Given the description of an element on the screen output the (x, y) to click on. 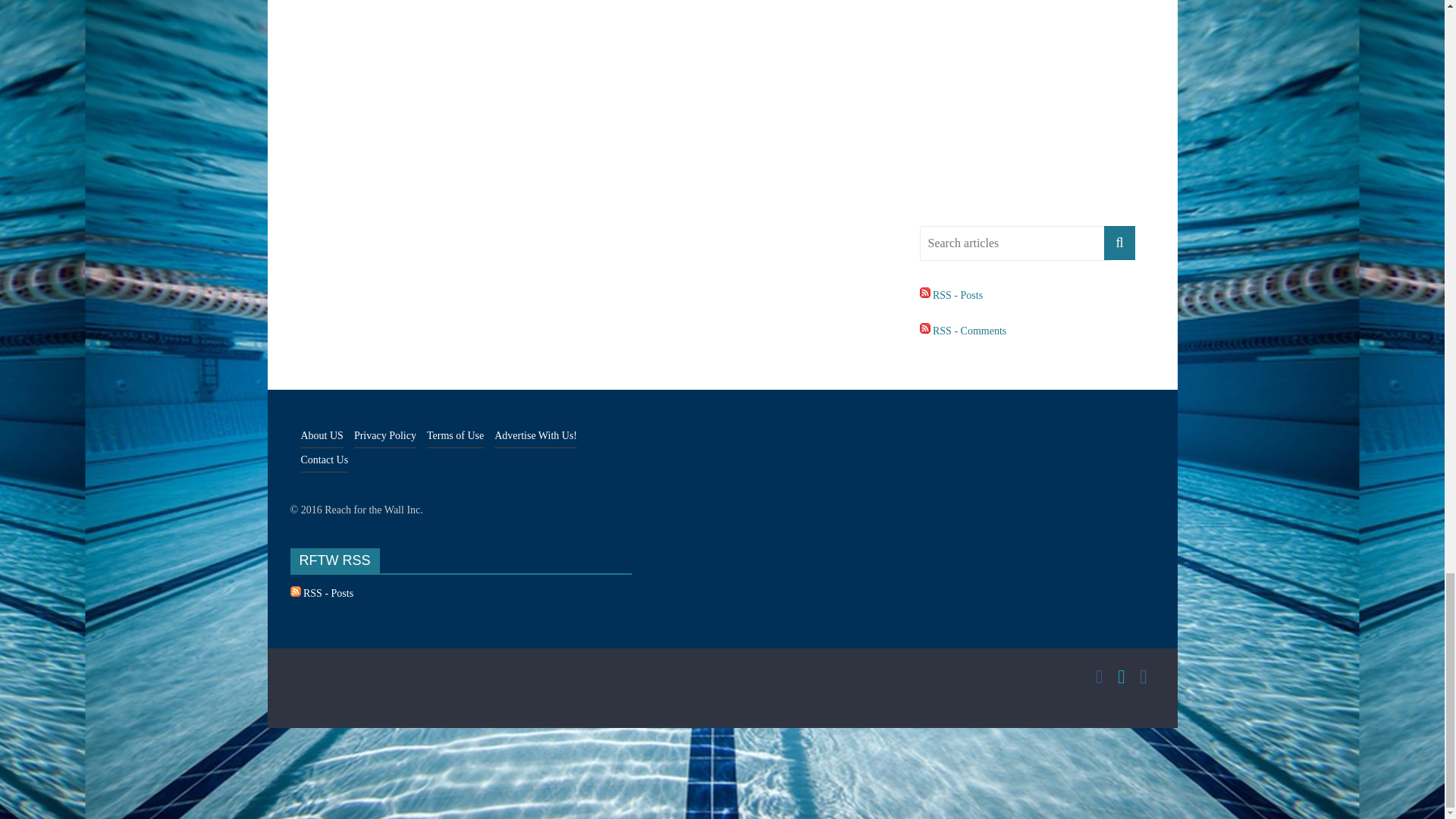
Subscribe to comments (962, 330)
Advertisement (1036, 104)
Subscribe to posts (950, 295)
